Given the description of an element on the screen output the (x, y) to click on. 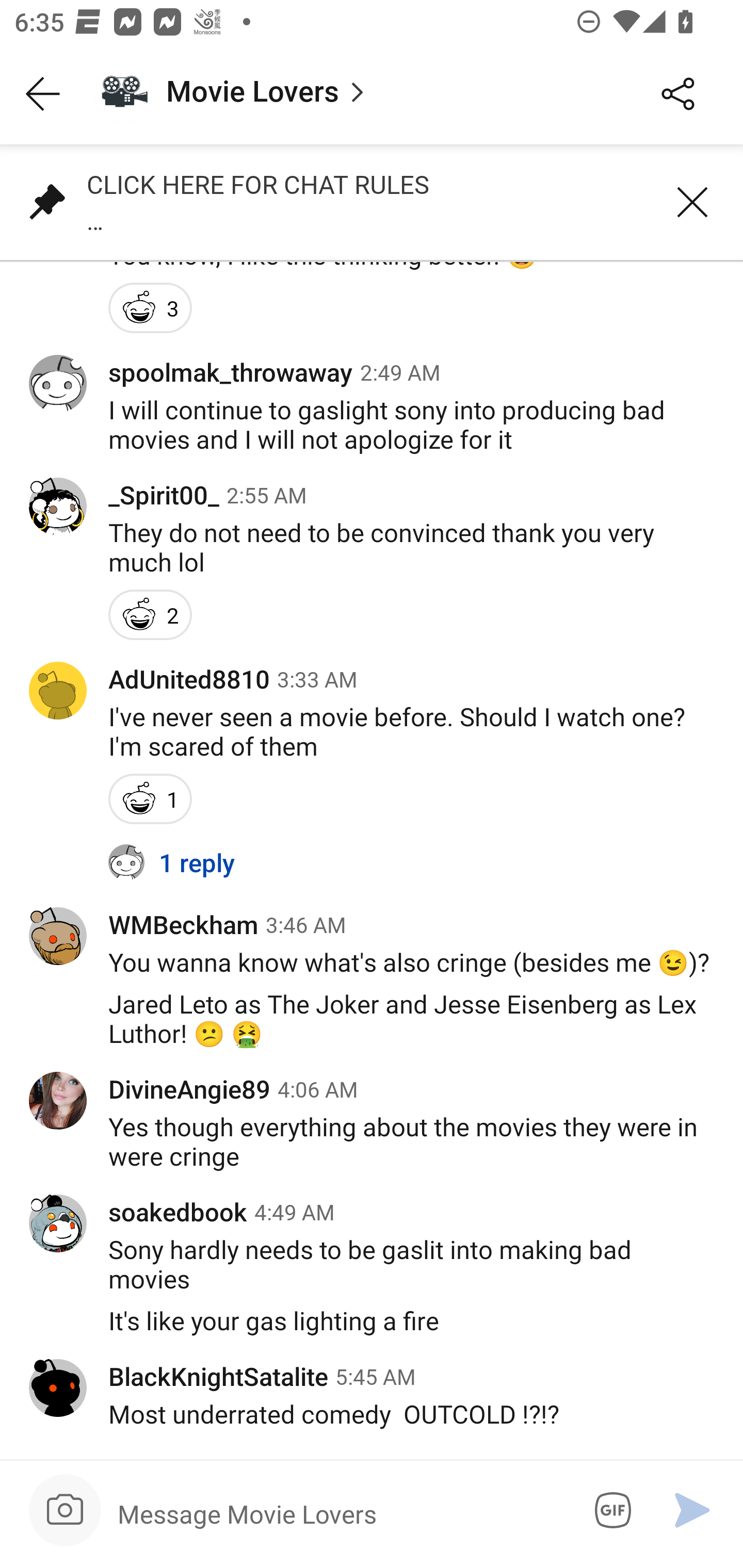
Back (43, 93)
Movie Lovers (353, 93)
Share (677, 93)
Upload image (64, 1510)
Add GIF (609, 1510)
Send message (692, 1510)
Message Message Movie Lovers (338, 1513)
